Given the description of an element on the screen output the (x, y) to click on. 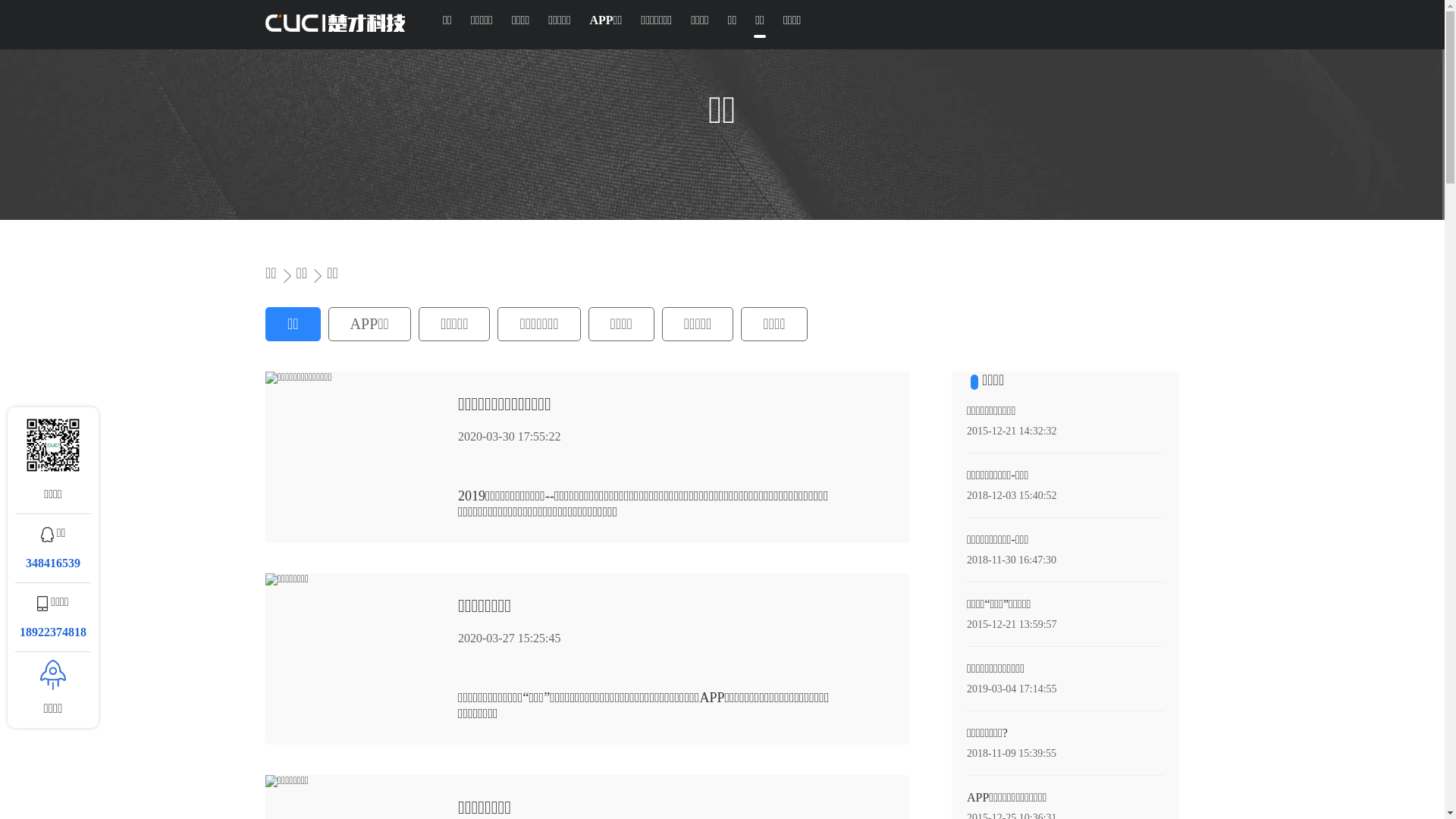
348416539 Element type: text (52, 562)
18922374818 Element type: text (52, 631)
